Given the description of an element on the screen output the (x, y) to click on. 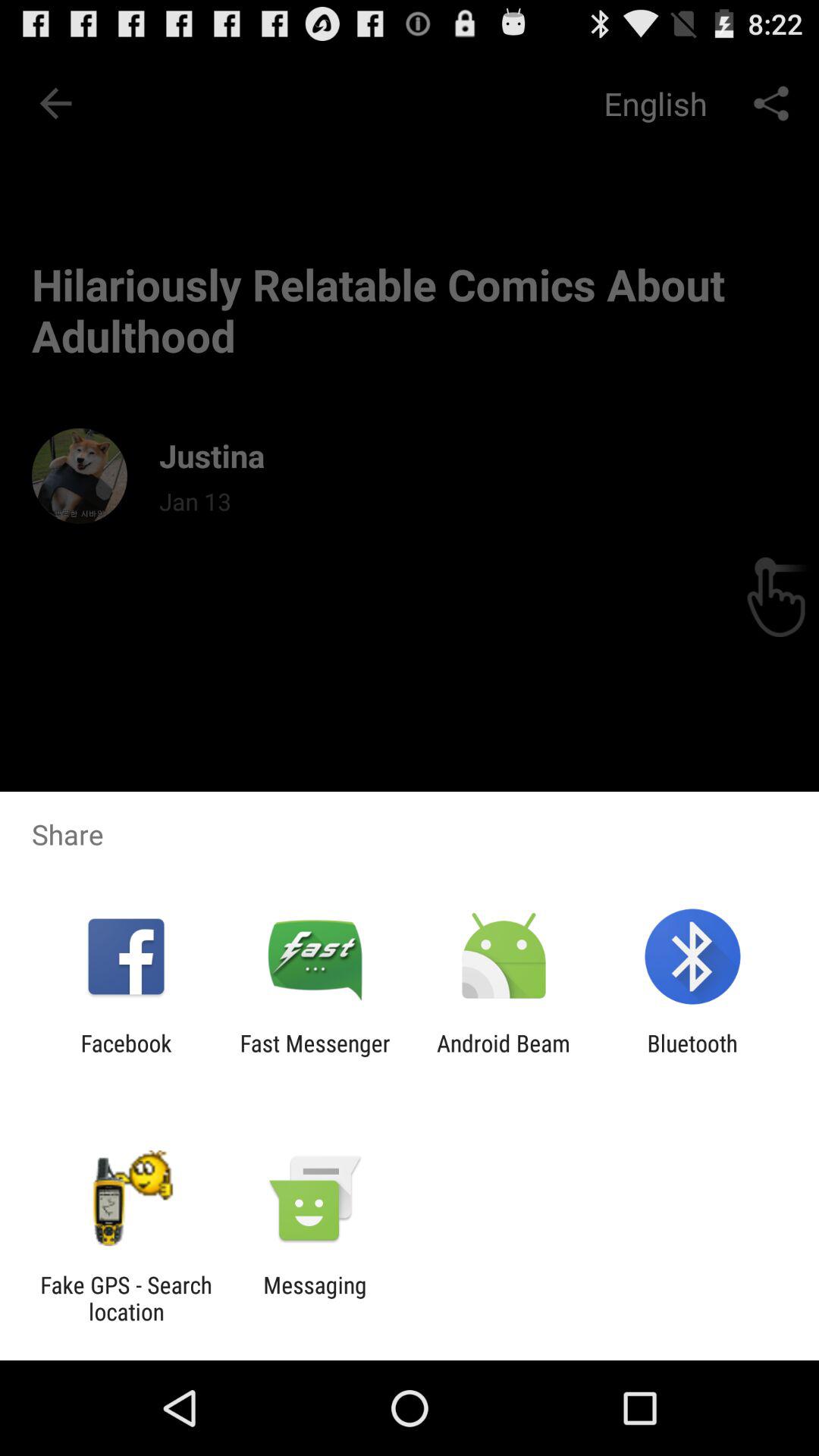
turn off app to the left of the bluetooth item (503, 1056)
